Given the description of an element on the screen output the (x, y) to click on. 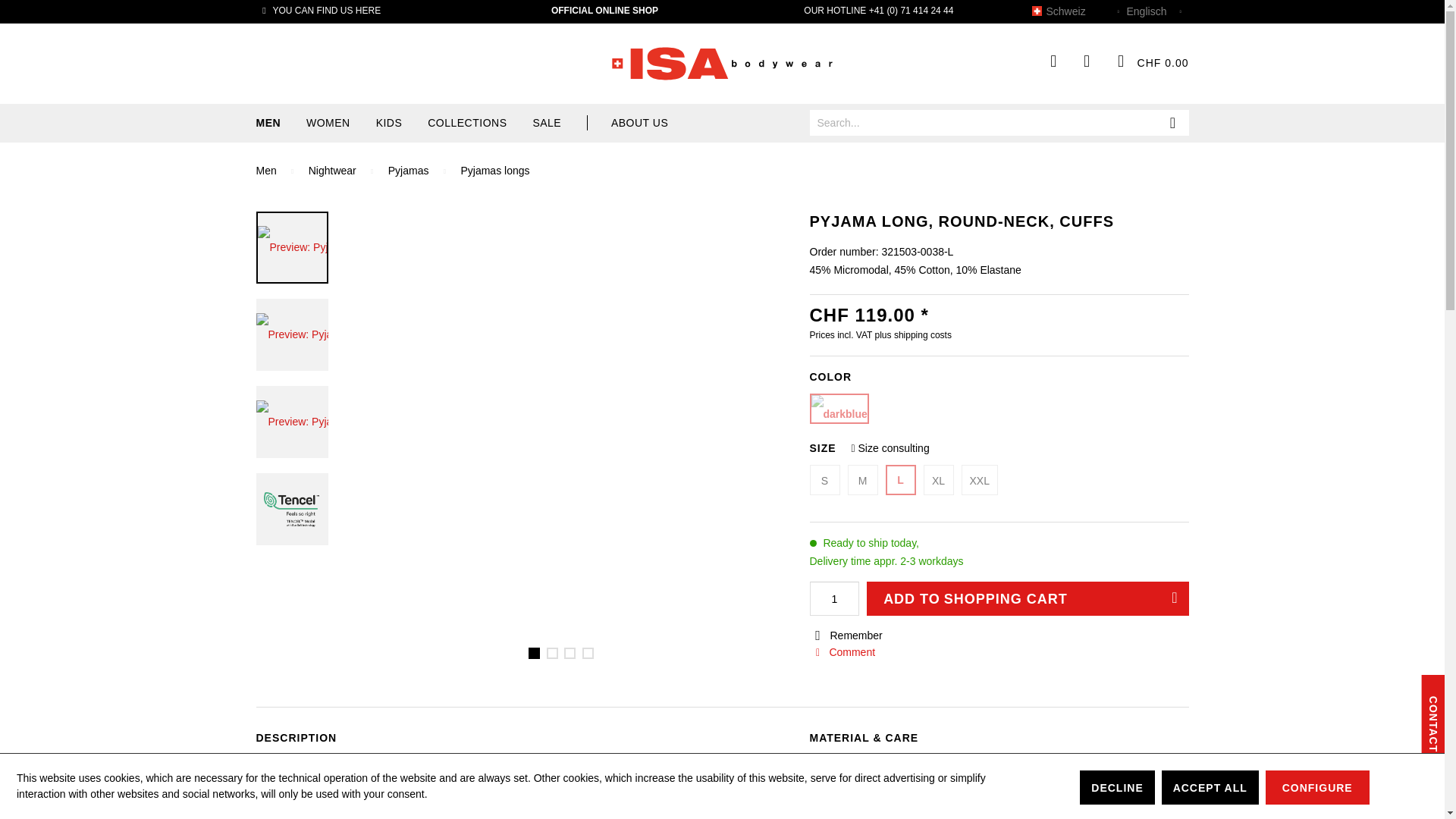
MEN (280, 123)
CHF 0.00 (1147, 60)
COLLECTIONS (478, 123)
YOU CAN FIND US HERE (318, 9)
Collections (478, 123)
ISA Bodywear Switzerland - Switch to homepage (721, 63)
Women (338, 123)
COLLECTIONS (478, 123)
My account (1086, 60)
Pyjamas longs (494, 170)
KIDS (721, 123)
Kids (400, 123)
Sale (400, 123)
WOMEN (557, 123)
